Given the description of an element on the screen output the (x, y) to click on. 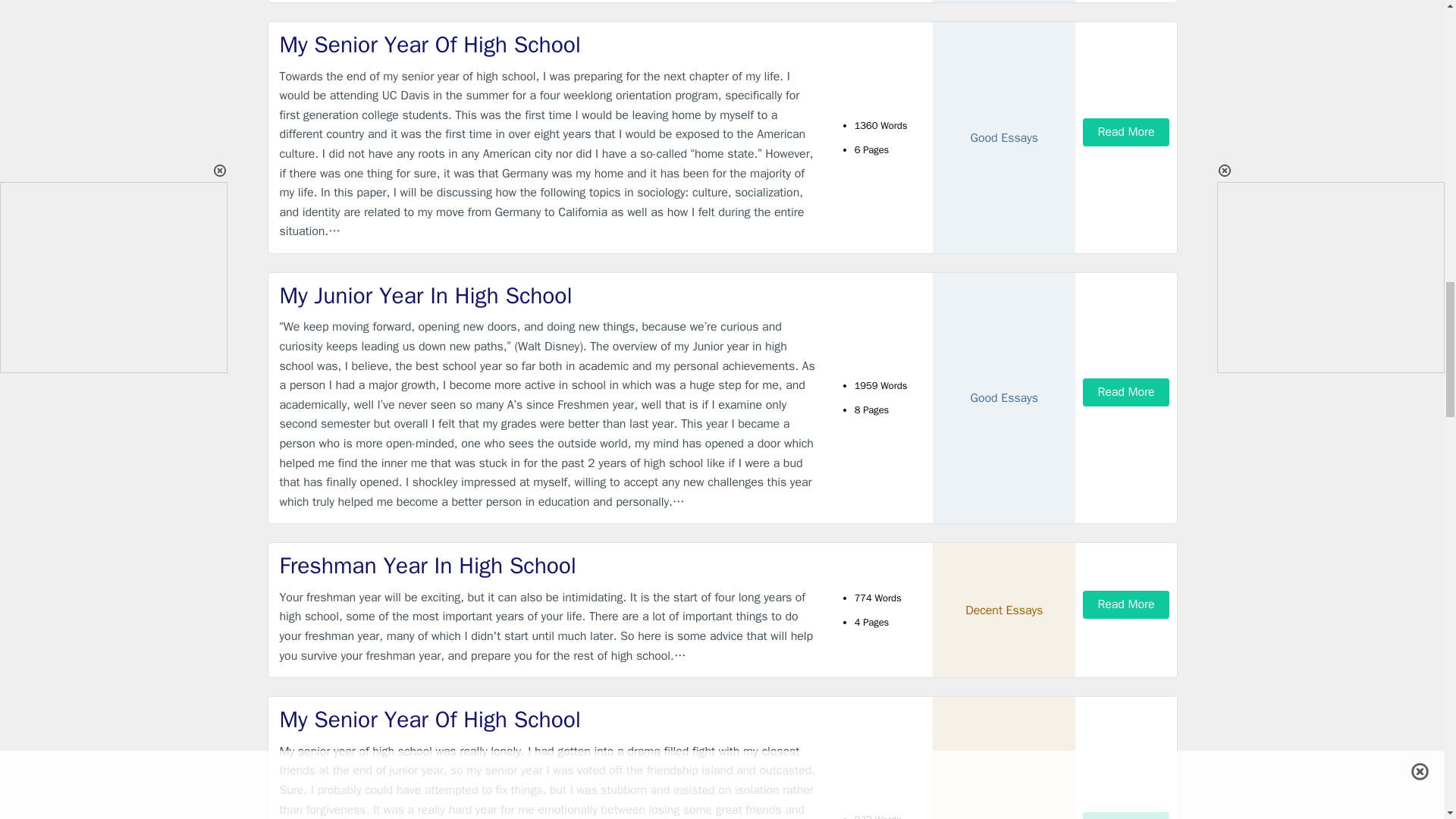
My Junior Year In High School (548, 296)
Read More (1126, 604)
Read More (1126, 815)
My Senior Year Of High School (548, 44)
My Senior Year Of High School (548, 719)
Freshman Year In High School (548, 565)
Read More (1126, 392)
Read More (1126, 131)
